Given the description of an element on the screen output the (x, y) to click on. 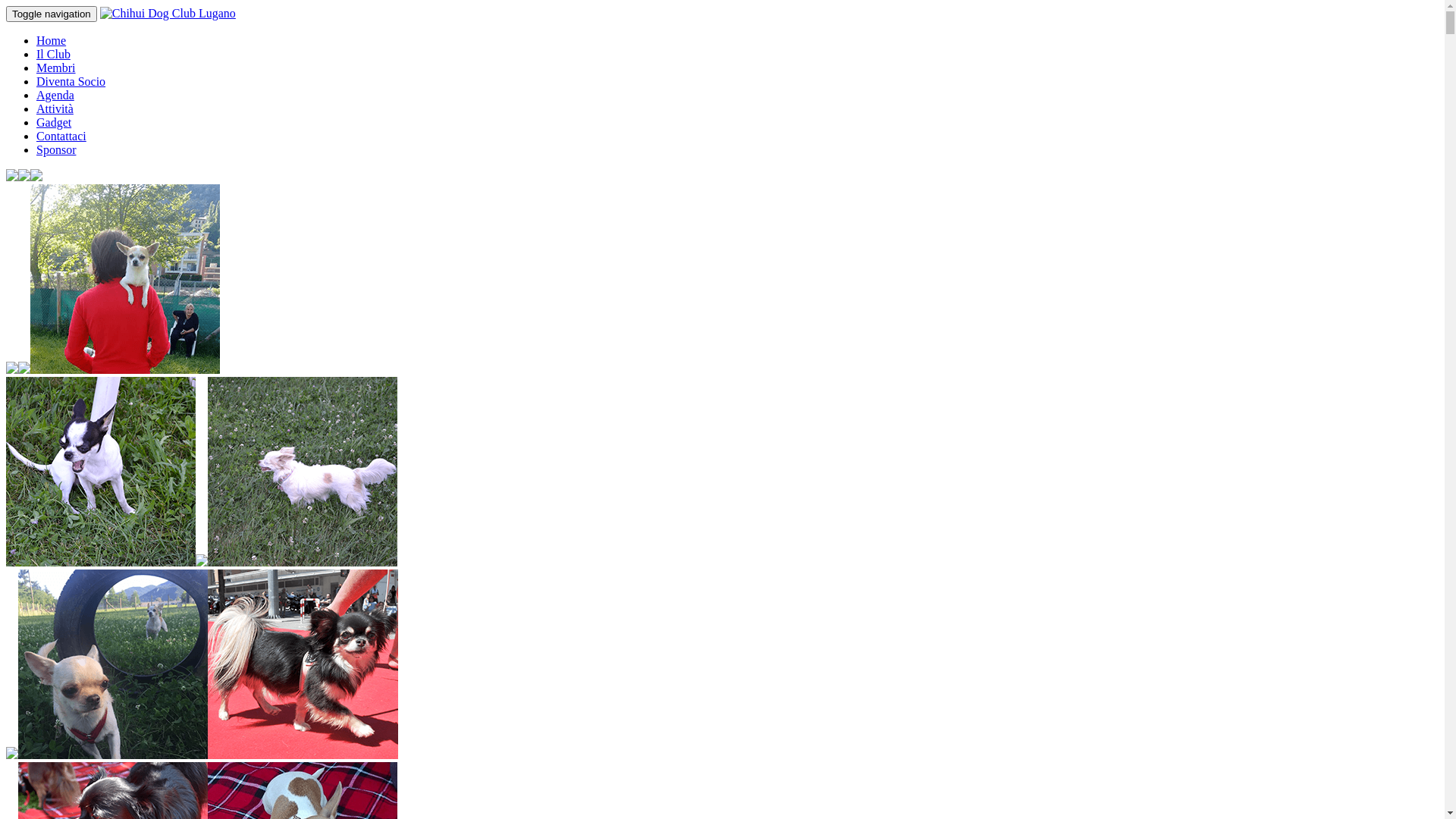
Diventa Socio Element type: text (70, 81)
Toggle navigation Element type: text (51, 13)
Home Element type: text (50, 40)
Gadget Element type: text (53, 122)
Sponsor Element type: text (55, 149)
Contattaci Element type: text (61, 135)
Membri Element type: text (55, 67)
Il Club Element type: text (53, 53)
Agenda Element type: text (55, 94)
